Given the description of an element on the screen output the (x, y) to click on. 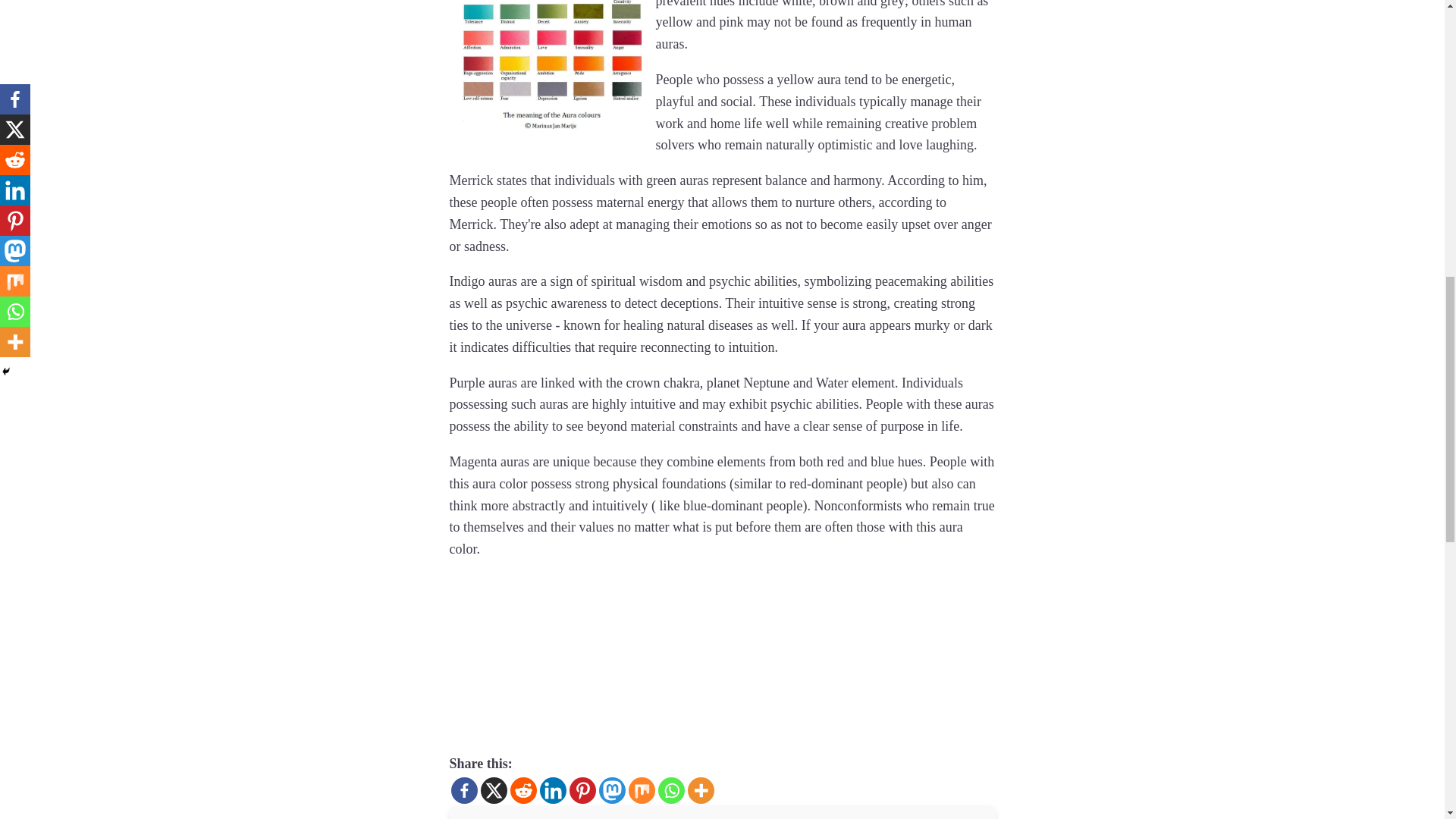
Mastodon (612, 790)
More (700, 790)
Whatsapp (671, 790)
X (493, 790)
Reddit (522, 790)
Linkedin (553, 790)
Pinterest (582, 790)
Mix (640, 790)
Facebook (463, 790)
